Given the description of an element on the screen output the (x, y) to click on. 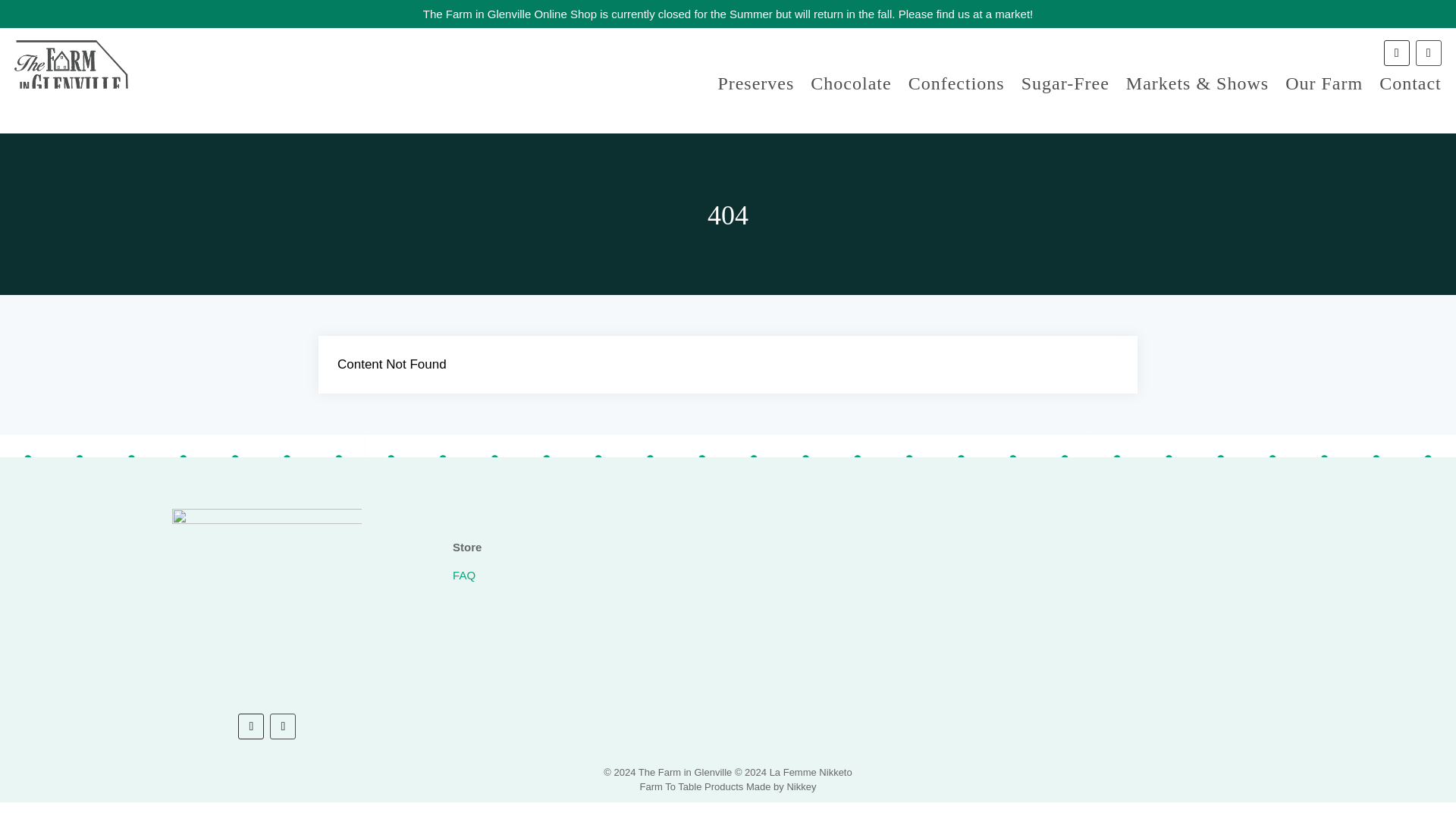
Follow on Instagram (1396, 53)
Follow on Facebook (282, 726)
Confections (956, 86)
Our Farm (1323, 86)
Follow on Facebook (1428, 53)
newFIGupdated2024-with-LFN (266, 603)
FAQ (464, 574)
Preserves (755, 86)
Sugar-Free (1065, 86)
Follow on Instagram (250, 726)
